Given the description of an element on the screen output the (x, y) to click on. 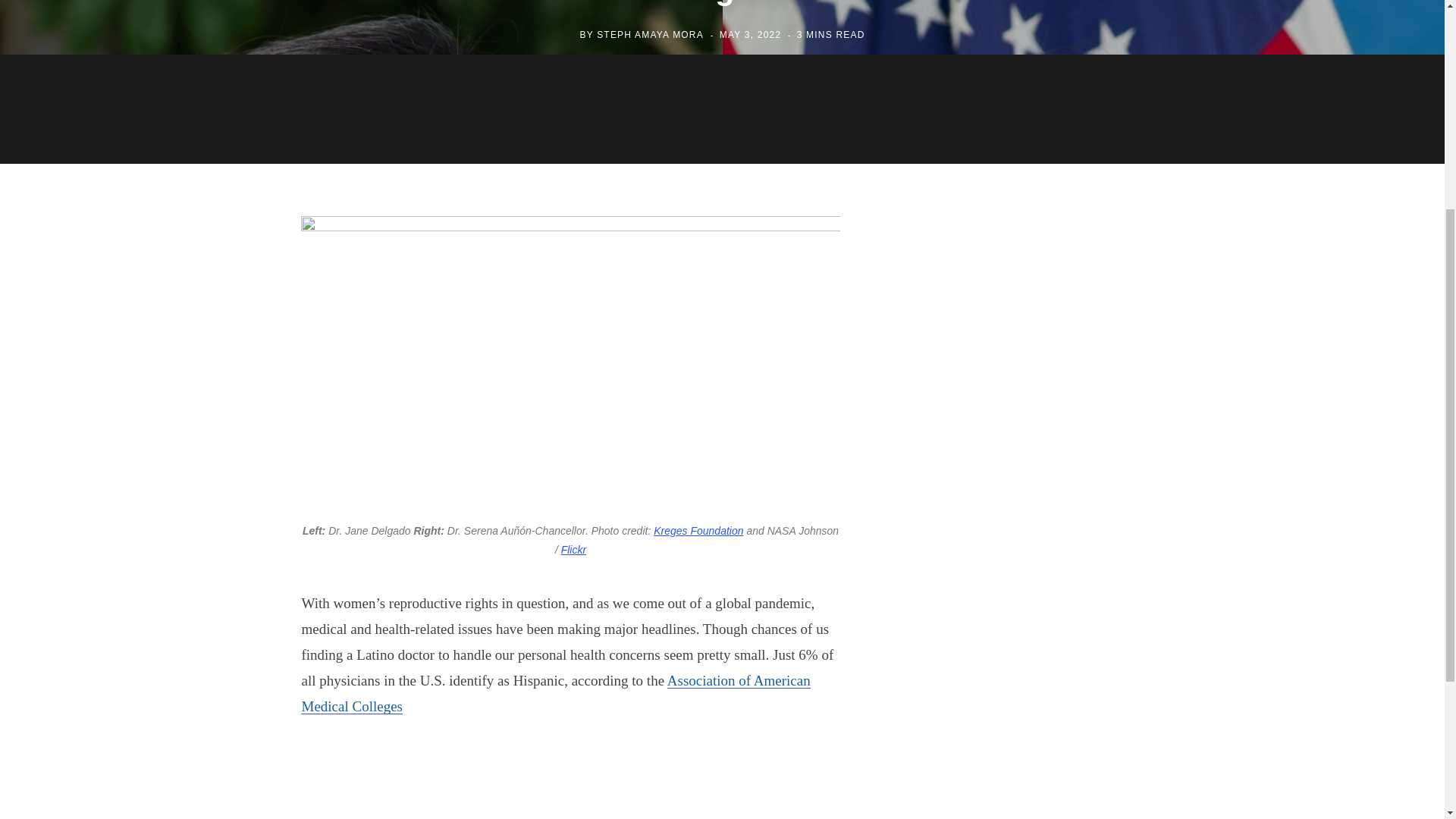
STEPH AMAYA MORA (649, 34)
Association of American Medical Colleges (555, 692)
Posts by Steph Amaya Mora (649, 34)
Kreges Foundation (697, 530)
Flickr (573, 549)
